Given the description of an element on the screen output the (x, y) to click on. 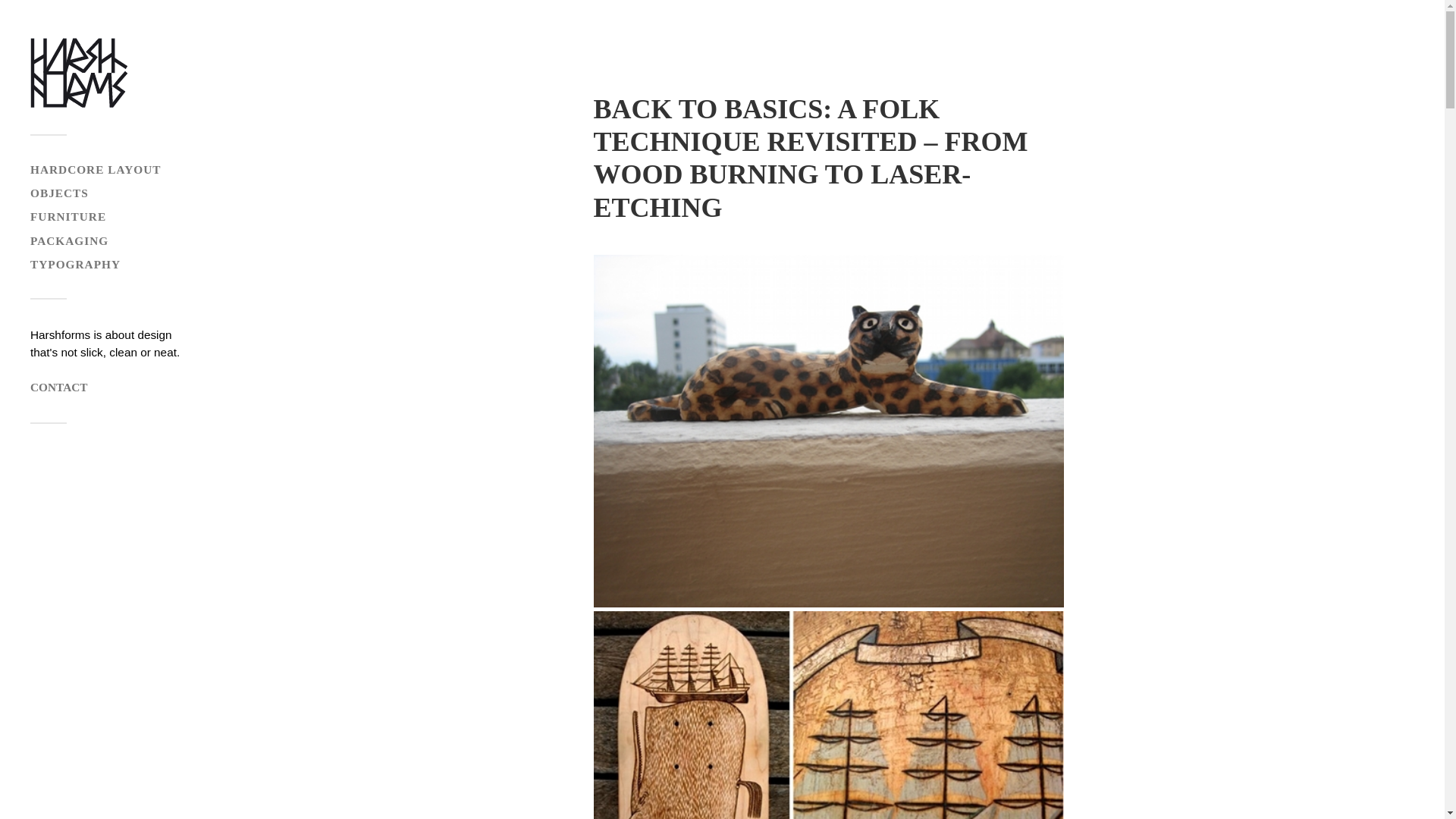
PACKAGING (68, 240)
TYPOGRAPHY (75, 264)
HARDCORE LAYOUT (95, 169)
OBJECTS (59, 192)
CONTACT (58, 386)
FURNITURE (68, 215)
